Given the description of an element on the screen output the (x, y) to click on. 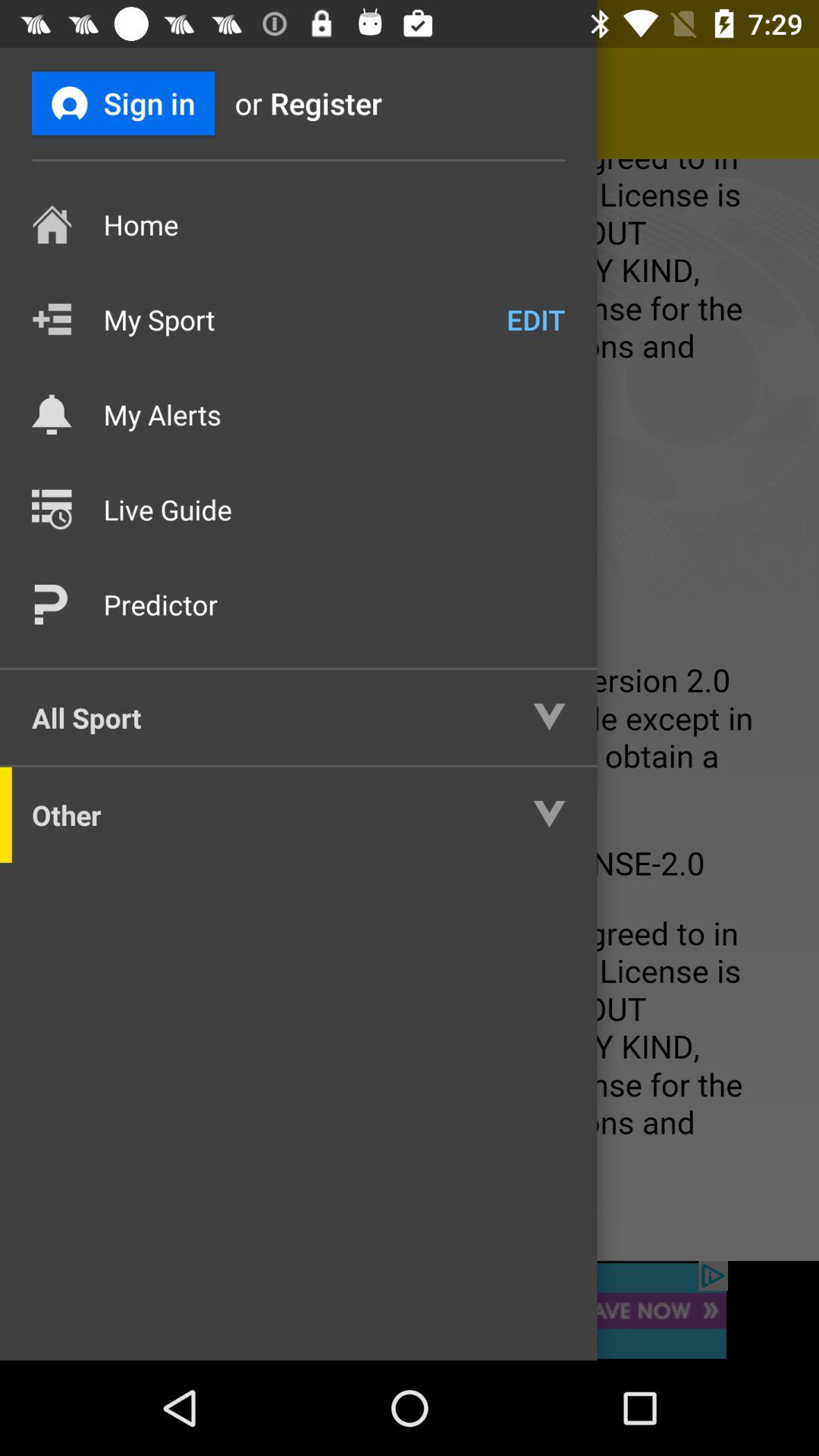
scroll to register item (351, 103)
